Given the description of an element on the screen output the (x, y) to click on. 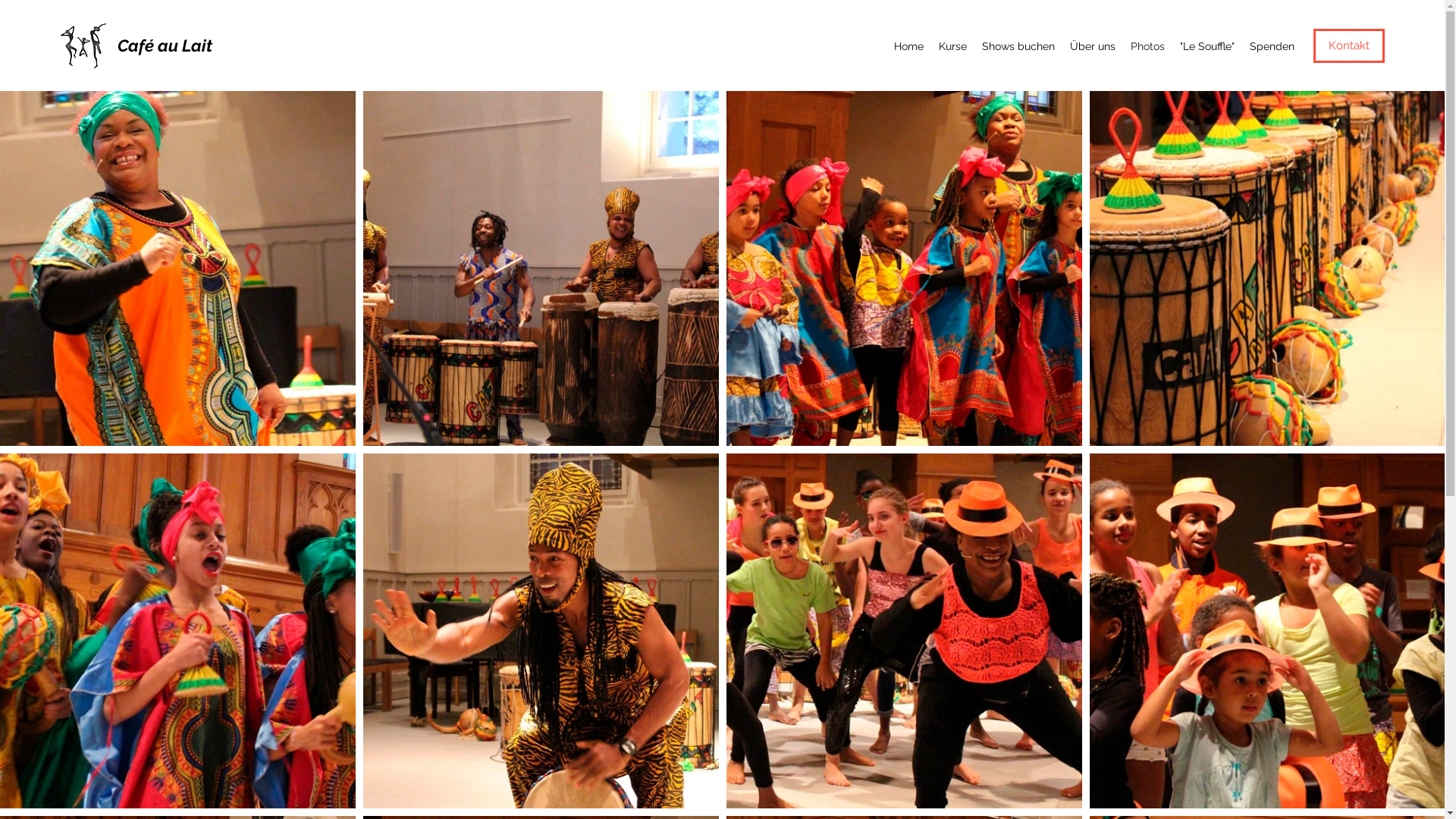
"Le Souffle" Element type: text (1207, 45)
Spenden Element type: text (1272, 45)
Home Element type: text (908, 45)
Kontakt Element type: text (1348, 45)
Shows buchen Element type: text (1018, 45)
Photos Element type: text (1147, 45)
Kurse Element type: text (952, 45)
